Given the description of an element on the screen output the (x, y) to click on. 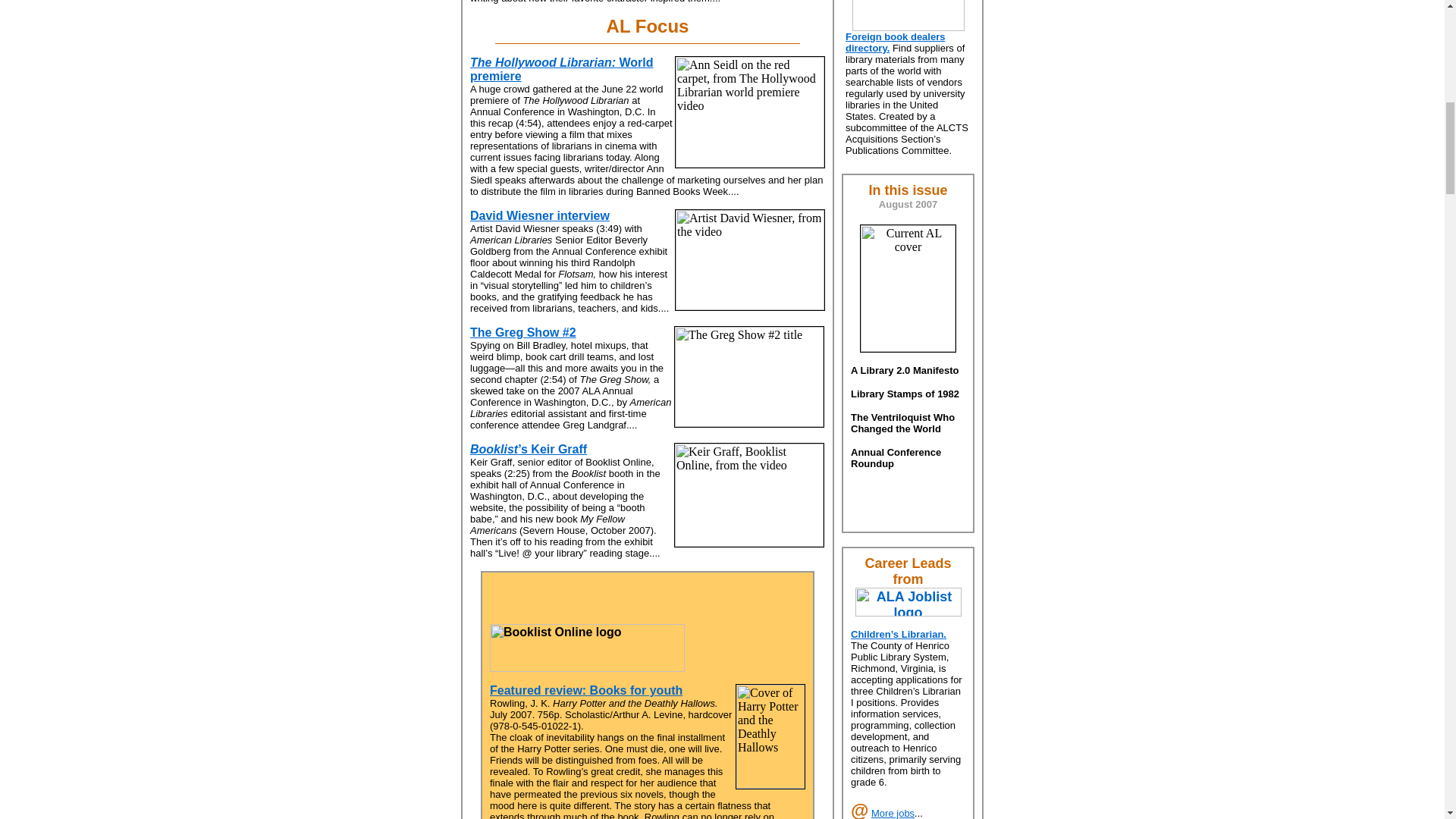
Featured review: Books for youth (585, 689)
David Wiesner interview (540, 215)
The Hollywood Librarian: World premiere (561, 69)
